Given the description of an element on the screen output the (x, y) to click on. 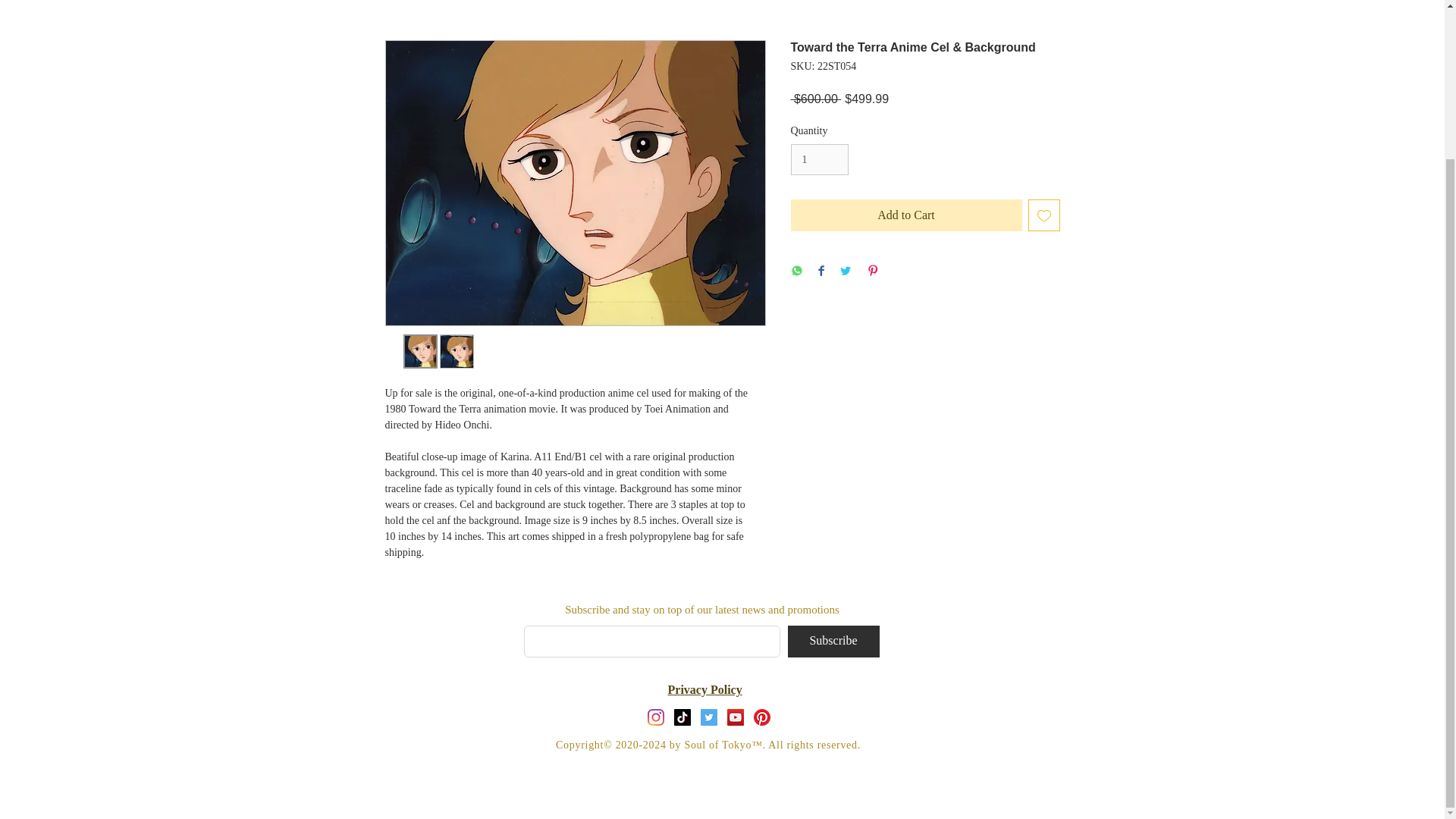
Add to Cart (906, 214)
1 (818, 159)
Subscribe (833, 641)
Privacy Policy (703, 689)
